Given the description of an element on the screen output the (x, y) to click on. 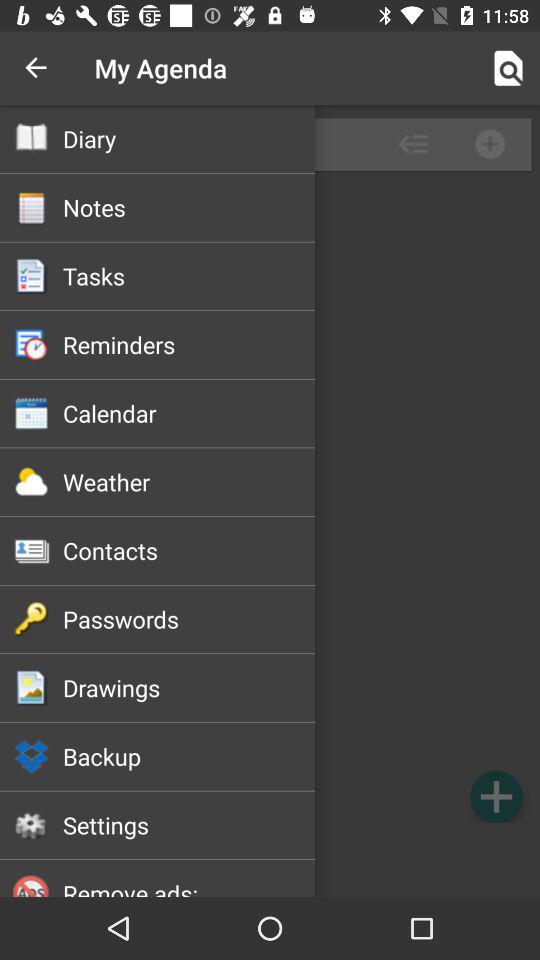
remove advertisements (270, 861)
